Given the description of an element on the screen output the (x, y) to click on. 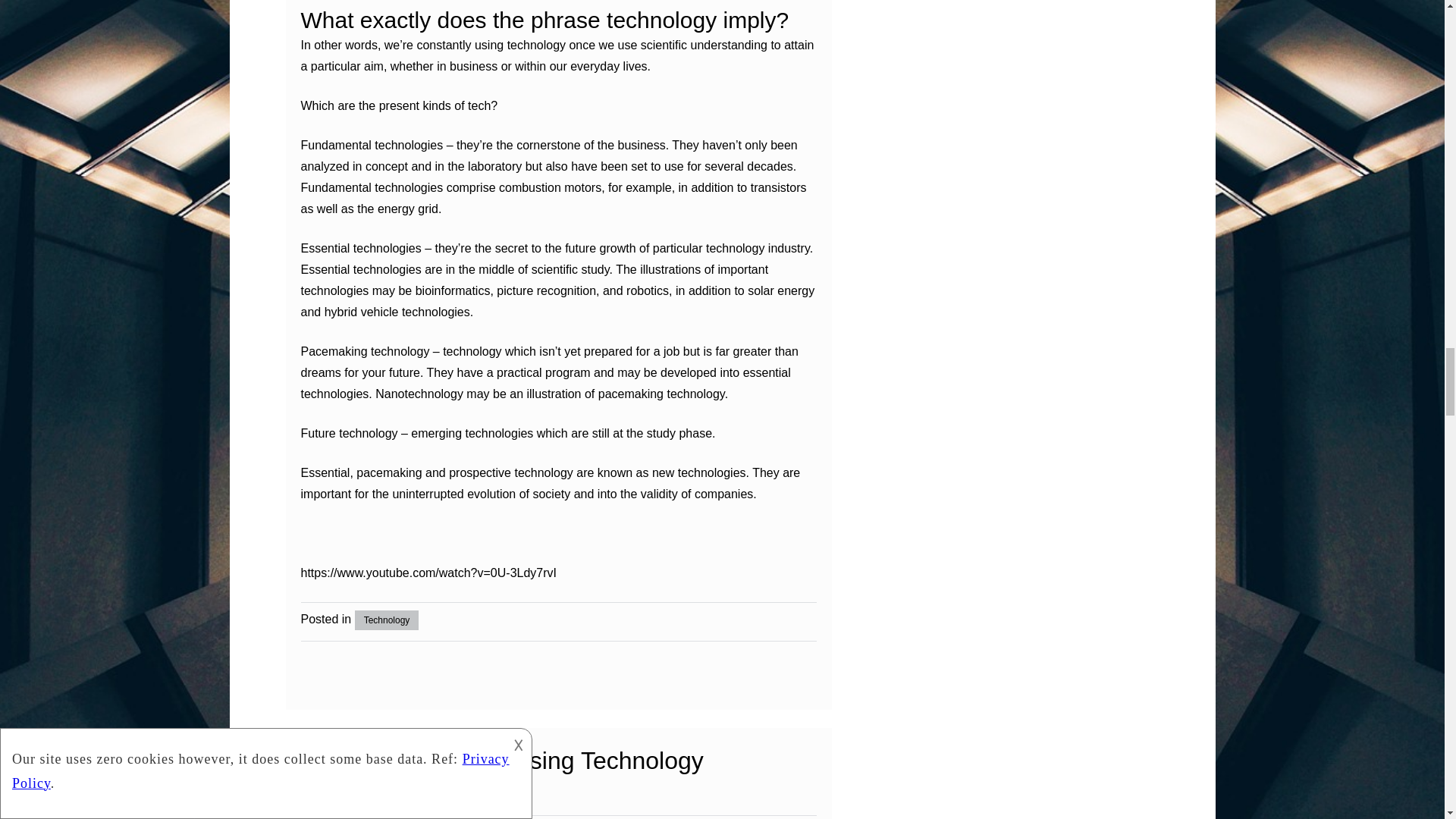
Technology (387, 619)
Towing Companies Using Technology Advancement (501, 776)
